Given the description of an element on the screen output the (x, y) to click on. 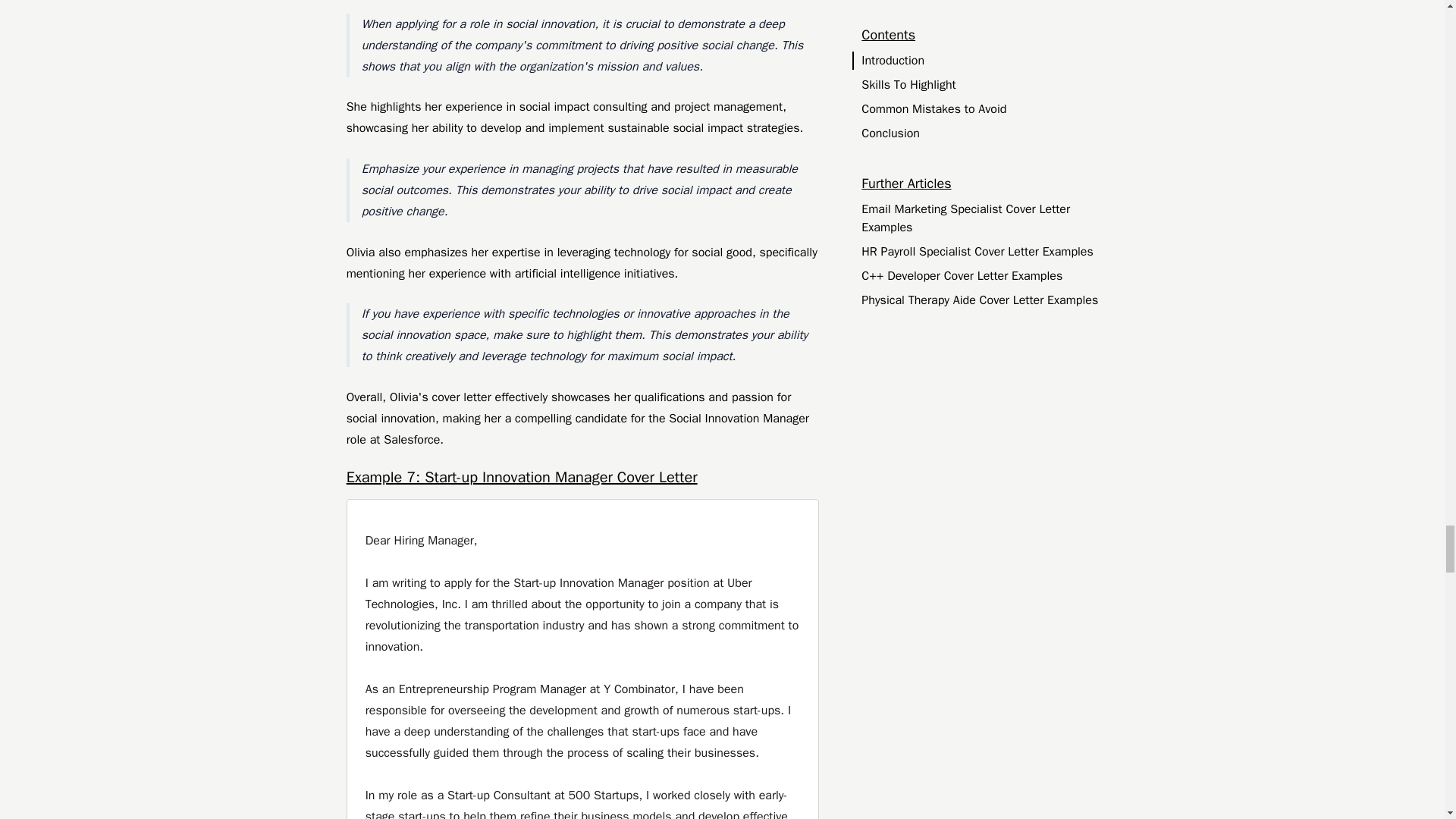
Example 7: Start-up Innovation Manager Cover Letter (582, 477)
